Given the description of an element on the screen output the (x, y) to click on. 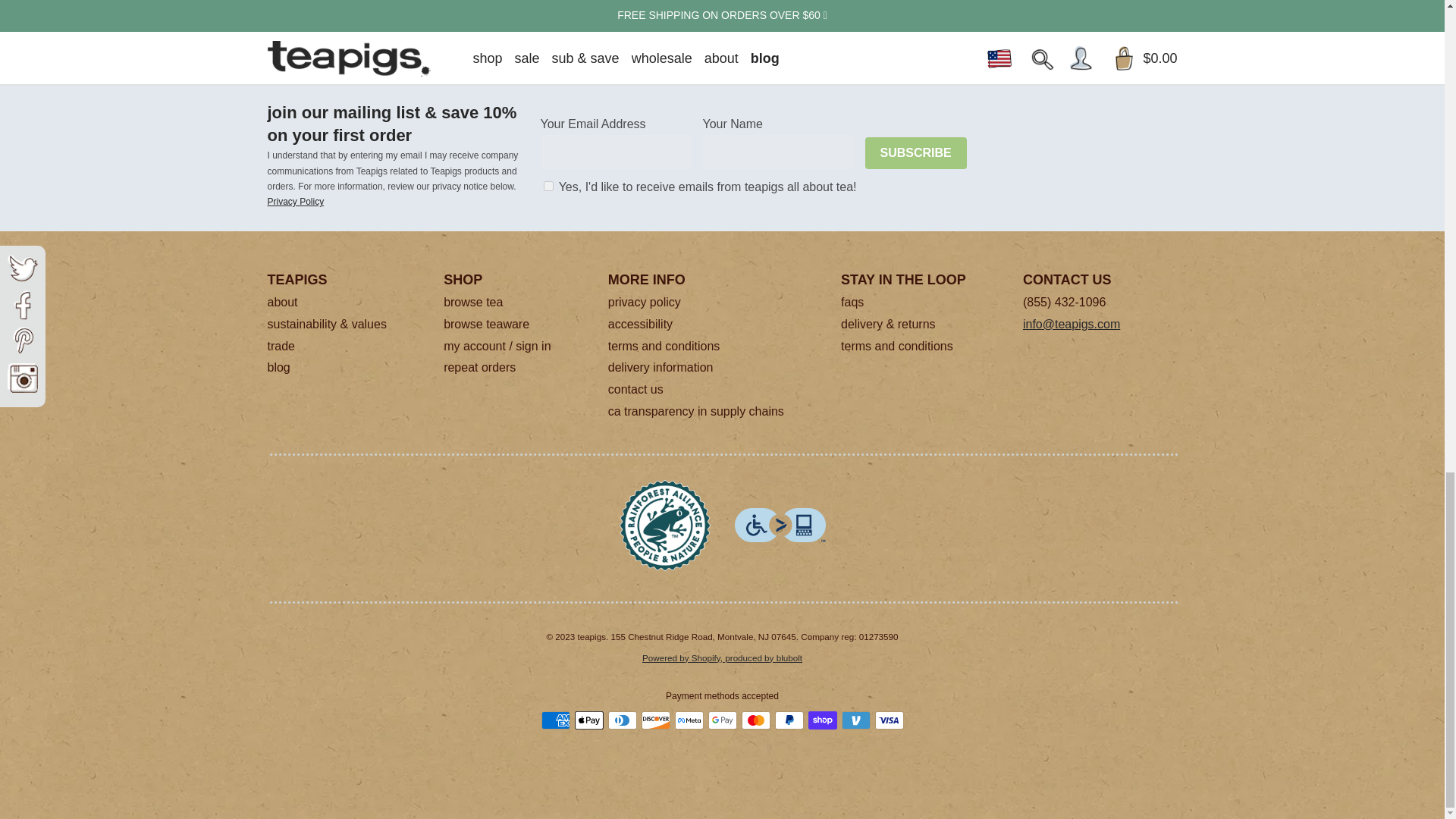
Venmo (855, 720)
Diners Club (622, 720)
Google Pay (721, 720)
Visa (889, 720)
Apple Pay (589, 720)
blubolt X Shopify Plus (722, 657)
Shop Pay (822, 720)
Mastercard (755, 720)
on (548, 185)
PayPal (788, 720)
Discover (655, 720)
American Express (555, 720)
Meta Pay (689, 720)
